Given the description of an element on the screen output the (x, y) to click on. 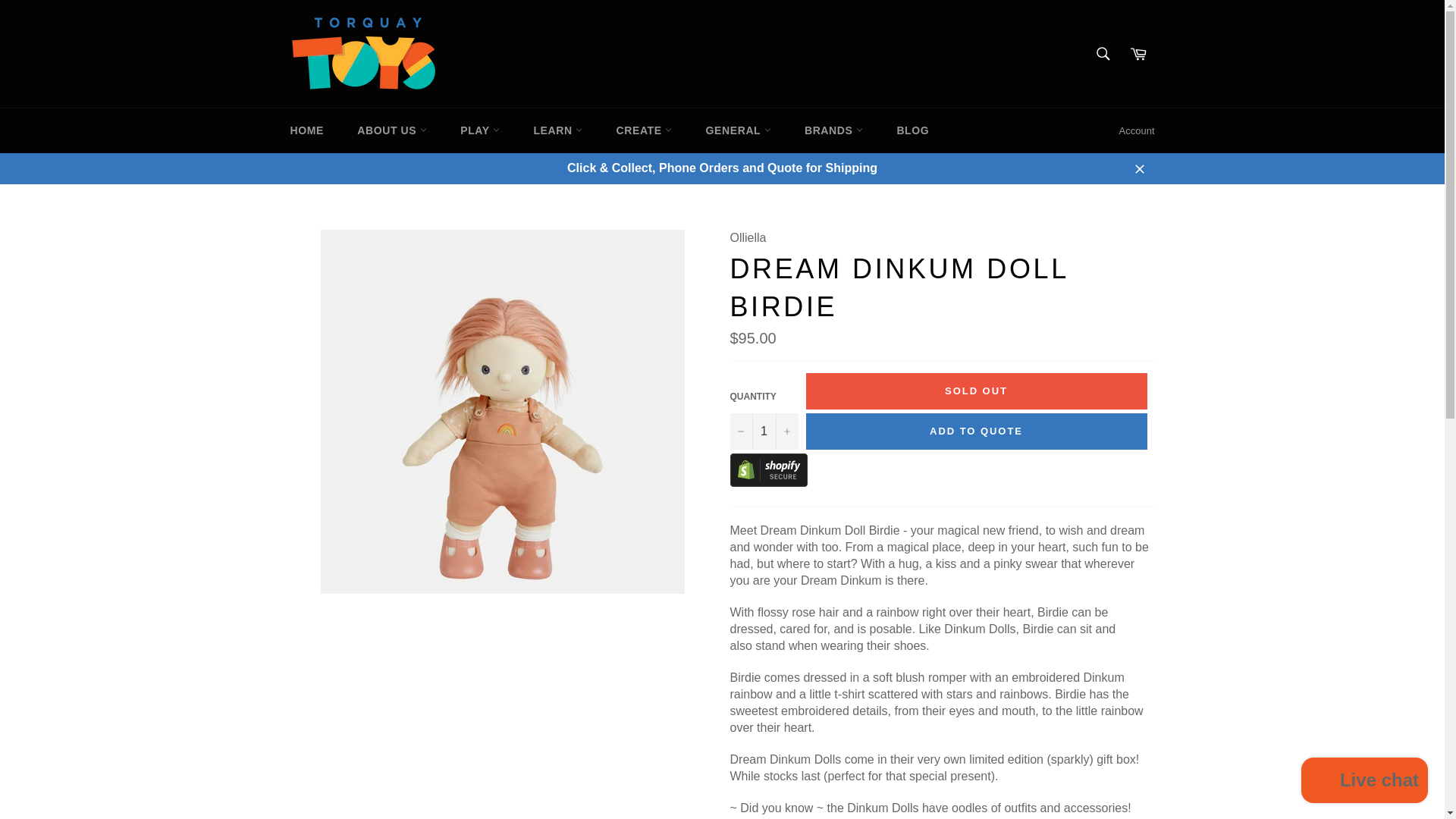
This online store is secured by Shopify (767, 481)
Shopify online store chat (1364, 781)
1 (763, 431)
